Given the description of an element on the screen output the (x, y) to click on. 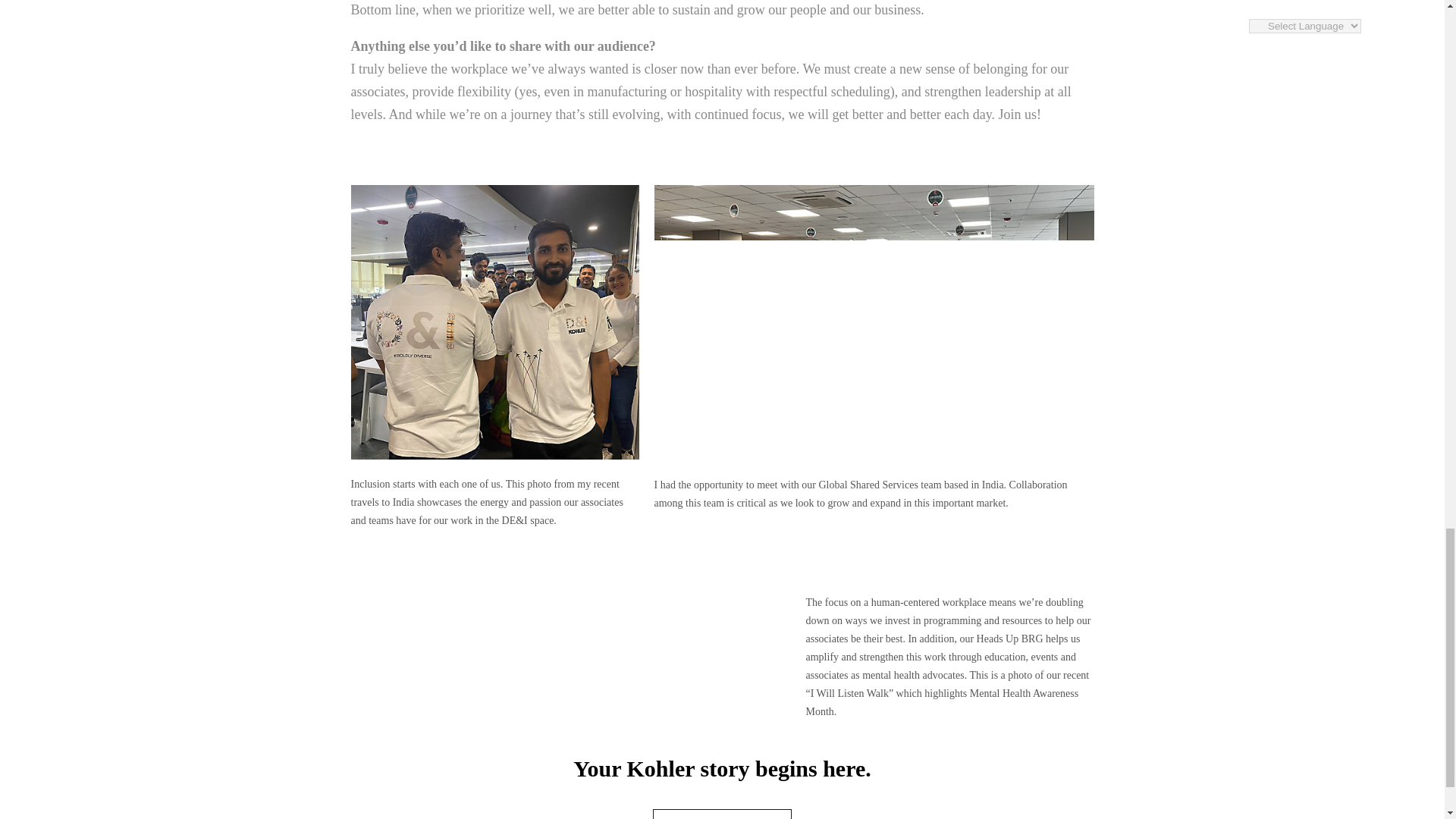
SEARCH JOBS (722, 814)
